Given the description of an element on the screen output the (x, y) to click on. 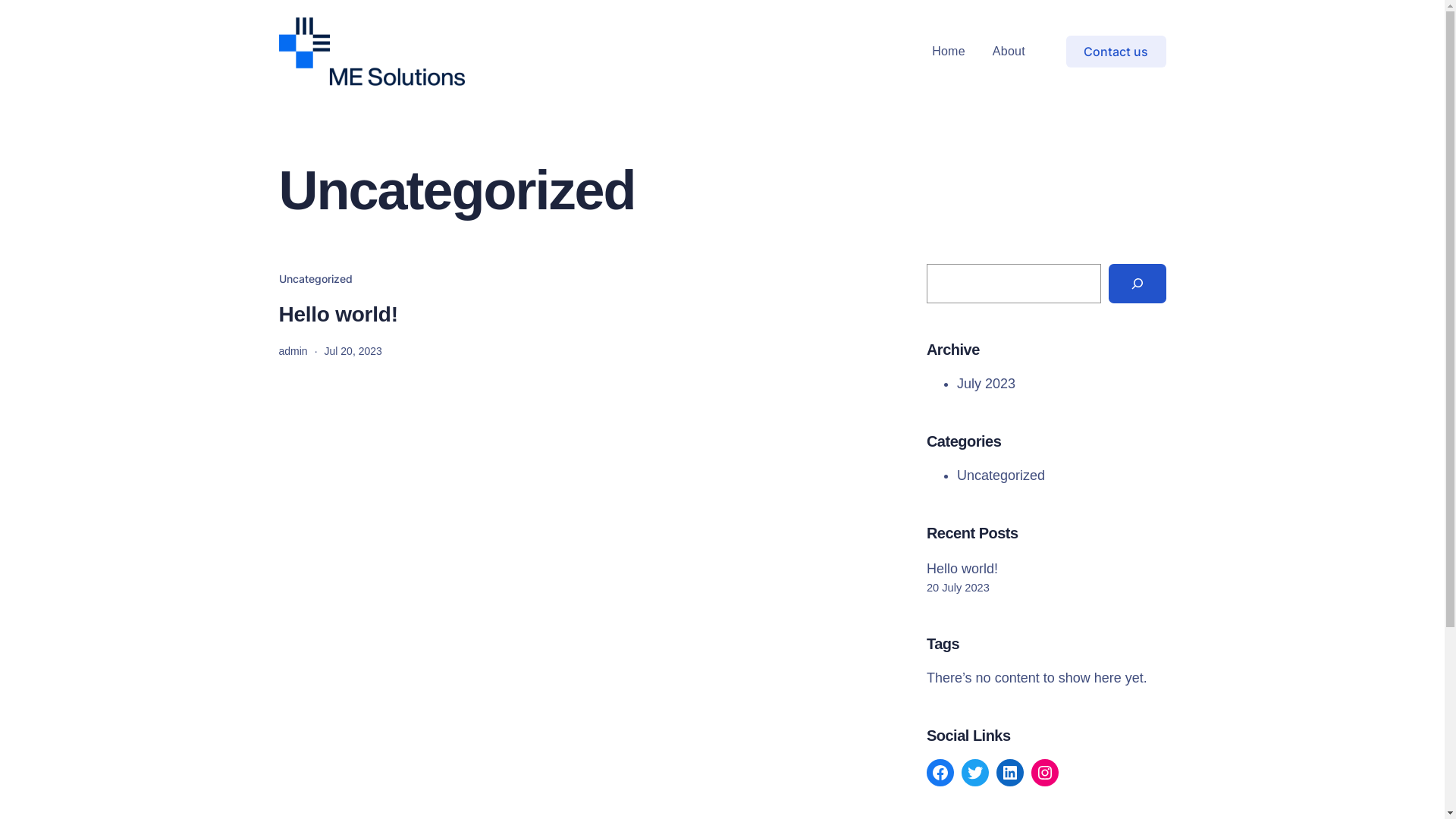
Home Element type: text (948, 51)
Uncategorized Element type: text (315, 278)
About Element type: text (1008, 51)
Uncategorized Element type: text (1000, 475)
Instagram Element type: text (1044, 772)
Twitter Element type: text (974, 772)
LinkedIn Element type: text (1009, 772)
Contact us Element type: text (1116, 50)
Facebook Element type: text (939, 772)
July 2023 Element type: text (986, 383)
Hello world! Element type: text (961, 568)
Hello world! Element type: text (338, 314)
